Given the description of an element on the screen output the (x, y) to click on. 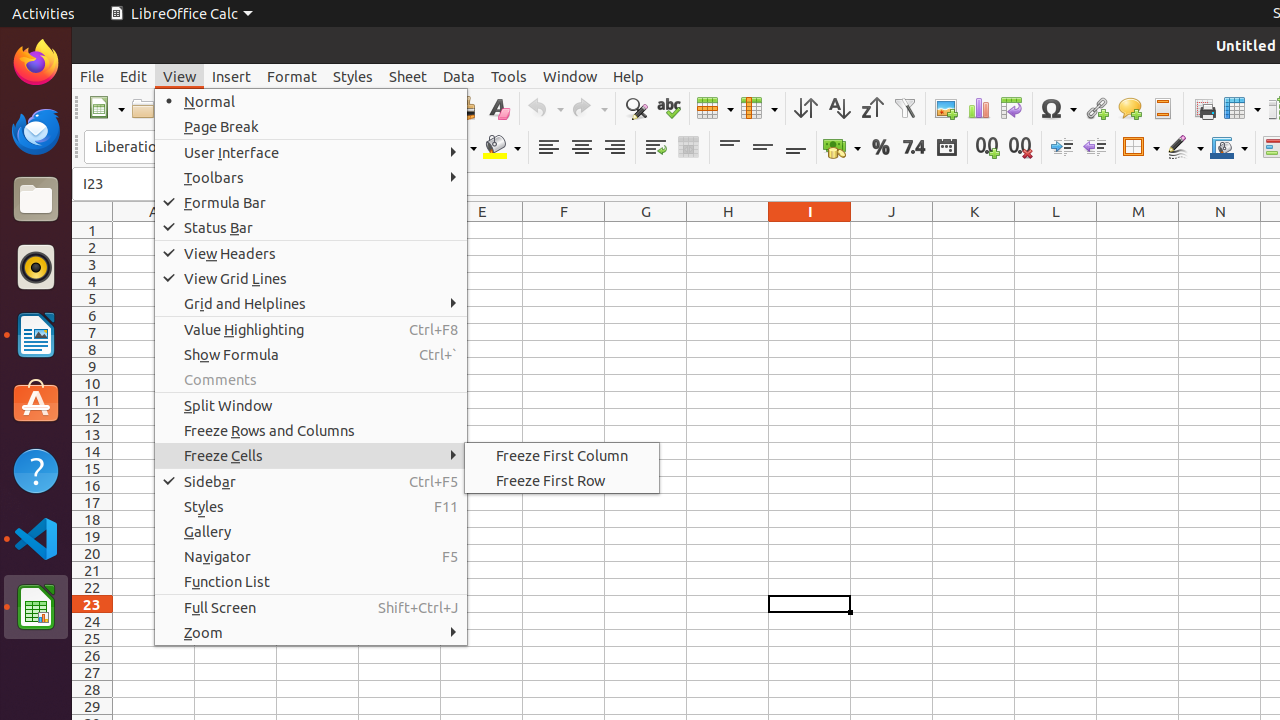
Headers and Footers Element type: push-button (1162, 108)
I1 Element type: table-cell (810, 230)
User Interface Element type: menu (311, 152)
Insert Element type: menu (231, 76)
